Given the description of an element on the screen output the (x, y) to click on. 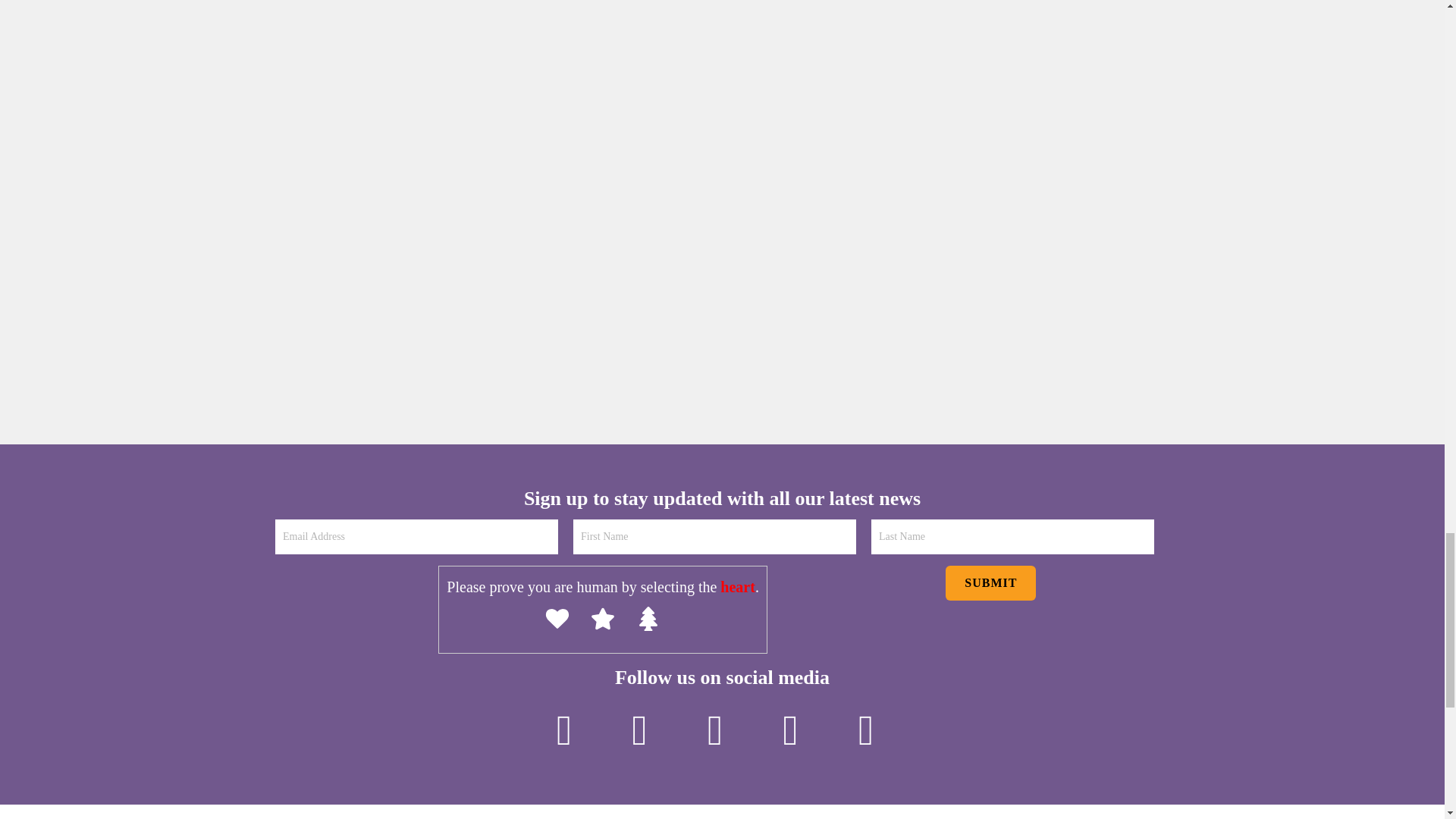
Submit (989, 582)
